Given the description of an element on the screen output the (x, y) to click on. 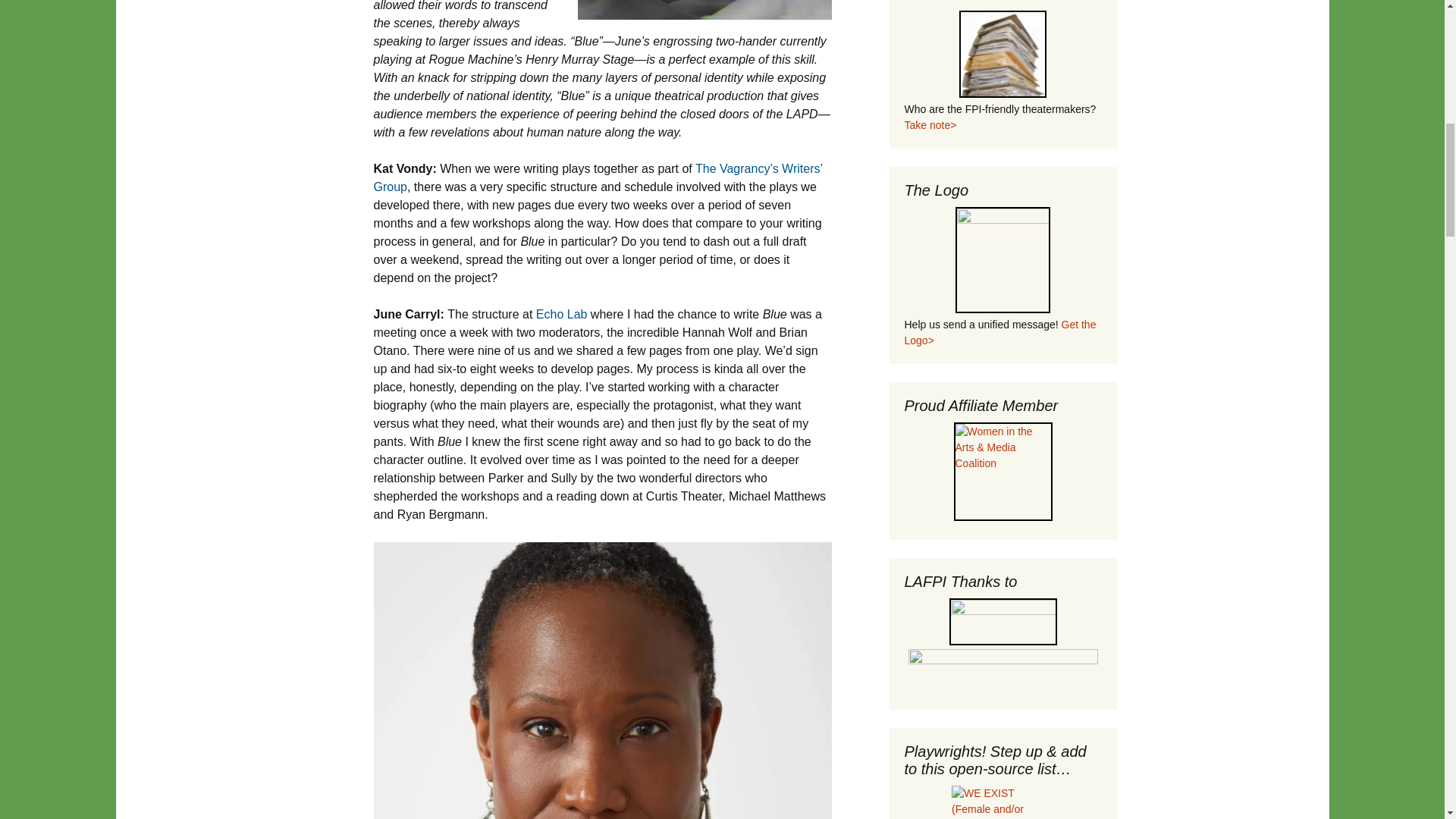
get-badge (1002, 259)
WomenArts (1003, 621)
Files (1002, 53)
